Given the description of an element on the screen output the (x, y) to click on. 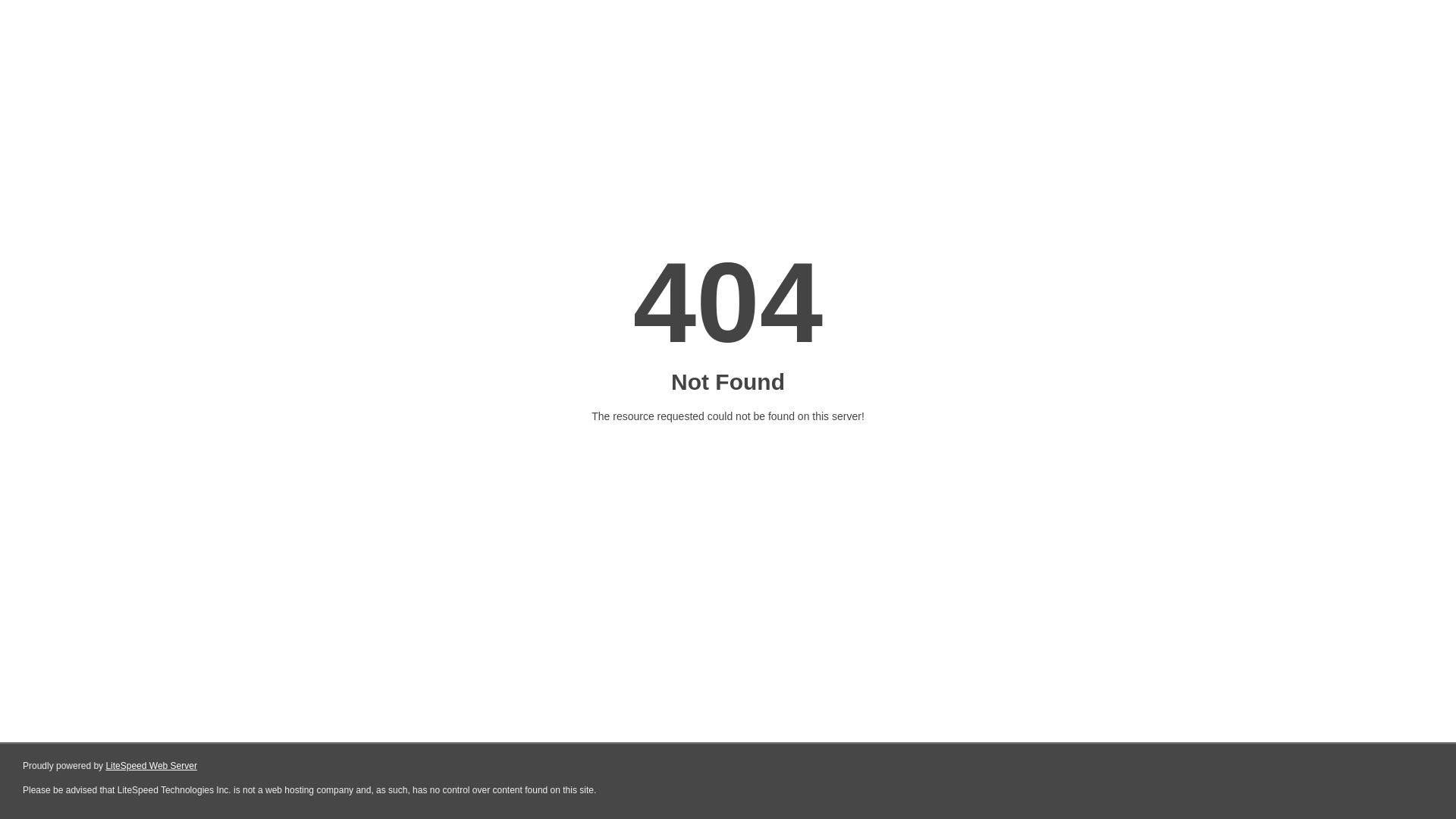
LiteSpeed Web Server Element type: text (151, 765)
